Given the description of an element on the screen output the (x, y) to click on. 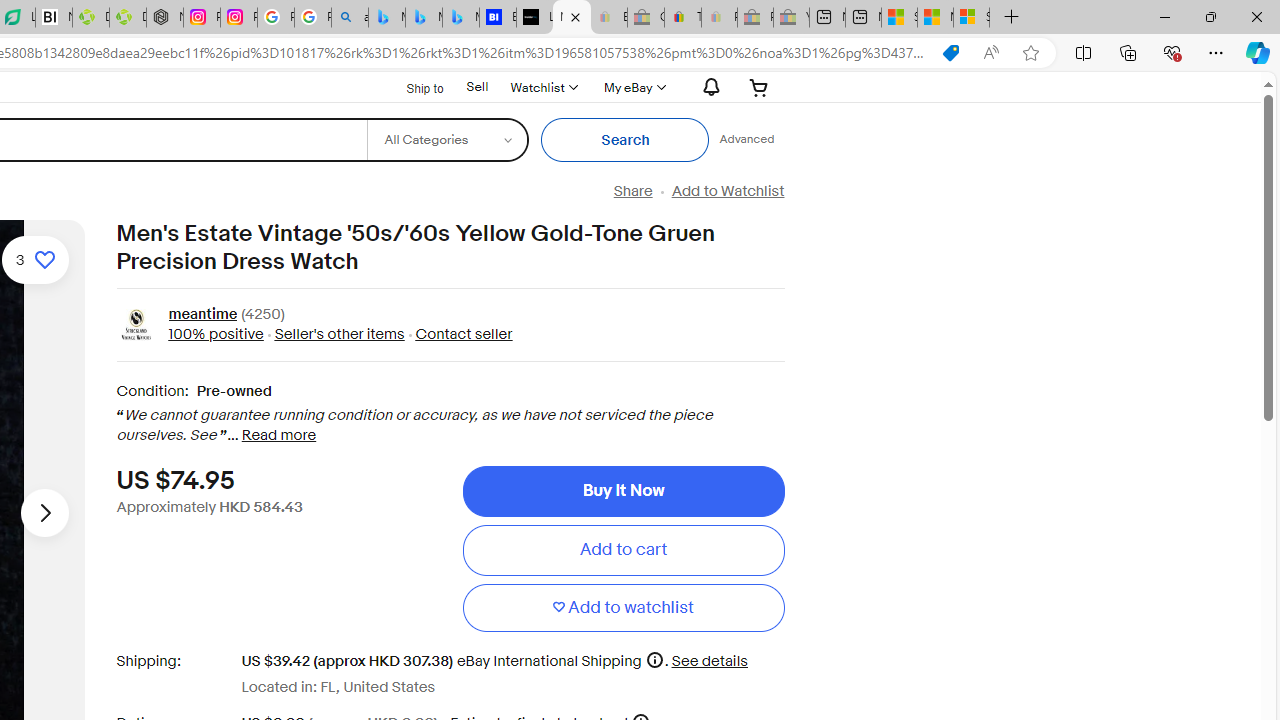
Buy It Now (623, 490)
Shanghai, China hourly forecast | Microsoft Weather (898, 17)
Ship to (412, 88)
Add to Watchlist (727, 191)
Ship to (412, 85)
Share (632, 191)
Contact seller (463, 334)
